Given the description of an element on the screen output the (x, y) to click on. 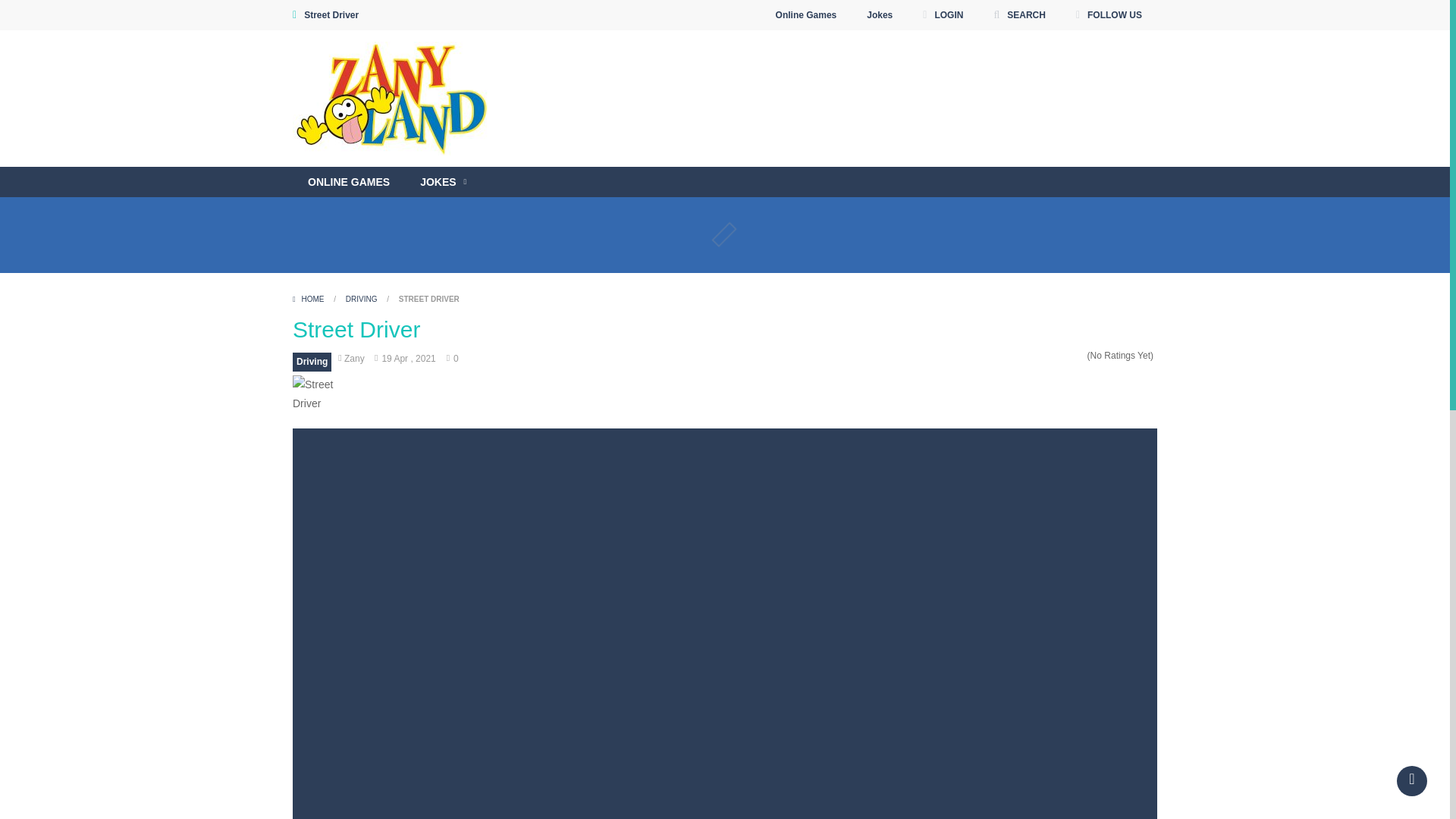
FOLLOW US (1108, 15)
Play Free Games at ZanyLand (394, 98)
Jokes (880, 15)
SEARCH (1019, 15)
Online Games (806, 15)
ONLINE GAMES (348, 182)
Play Free Games at ZanyLand (394, 97)
JOKES (442, 182)
YouTube video player (817, 160)
LOGIN (942, 15)
